Given the description of an element on the screen output the (x, y) to click on. 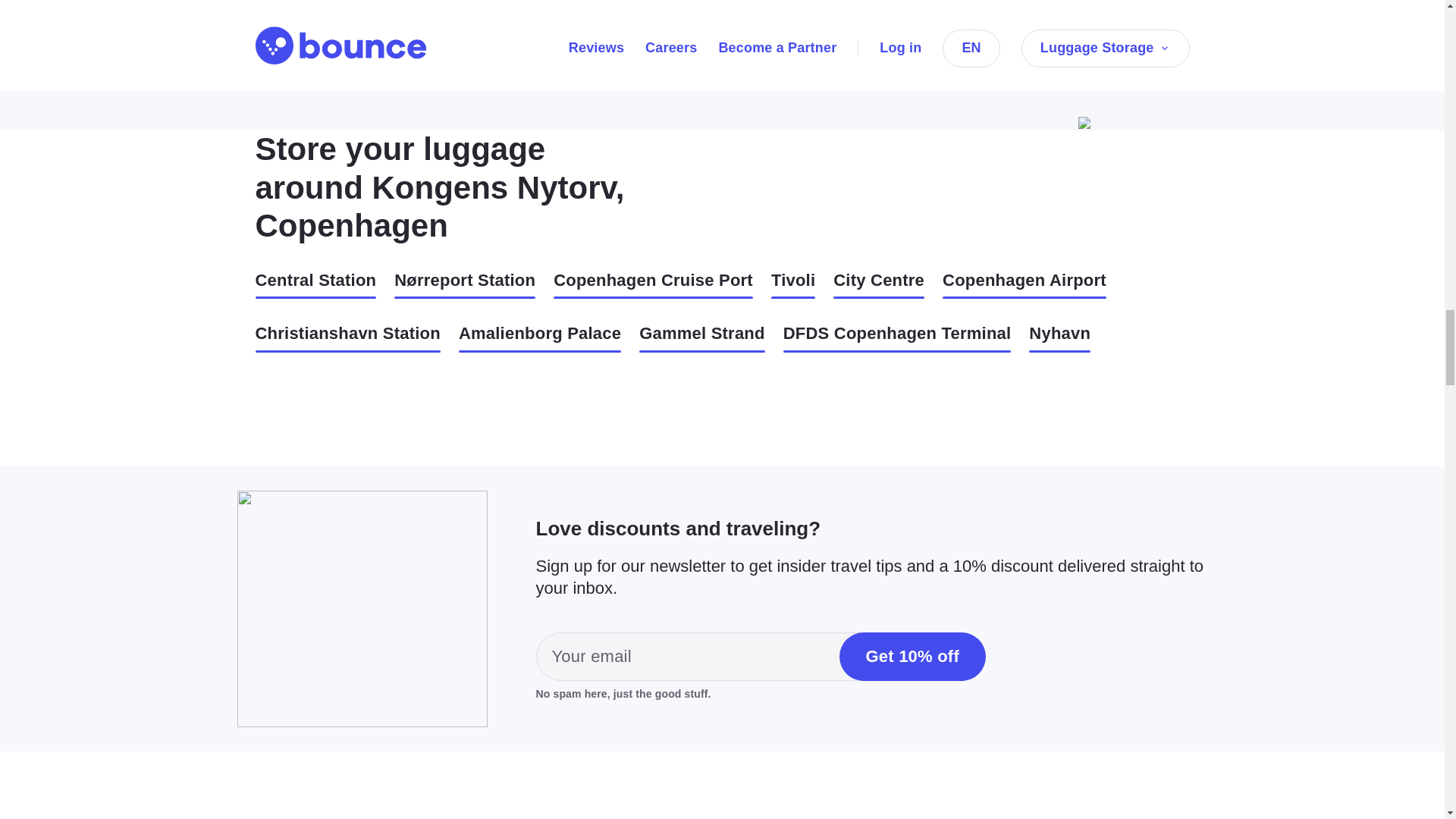
Gammel Strand (701, 337)
City Centre (878, 284)
Christianshavn Station (346, 337)
Tivoli (793, 284)
DFDS Copenhagen Terminal (897, 337)
Amalienborg Palace (539, 337)
Copenhagen Cruise Port (652, 284)
Nyhavn (1059, 337)
Copenhagen Airport (1024, 284)
Central Station (314, 284)
